Given the description of an element on the screen output the (x, y) to click on. 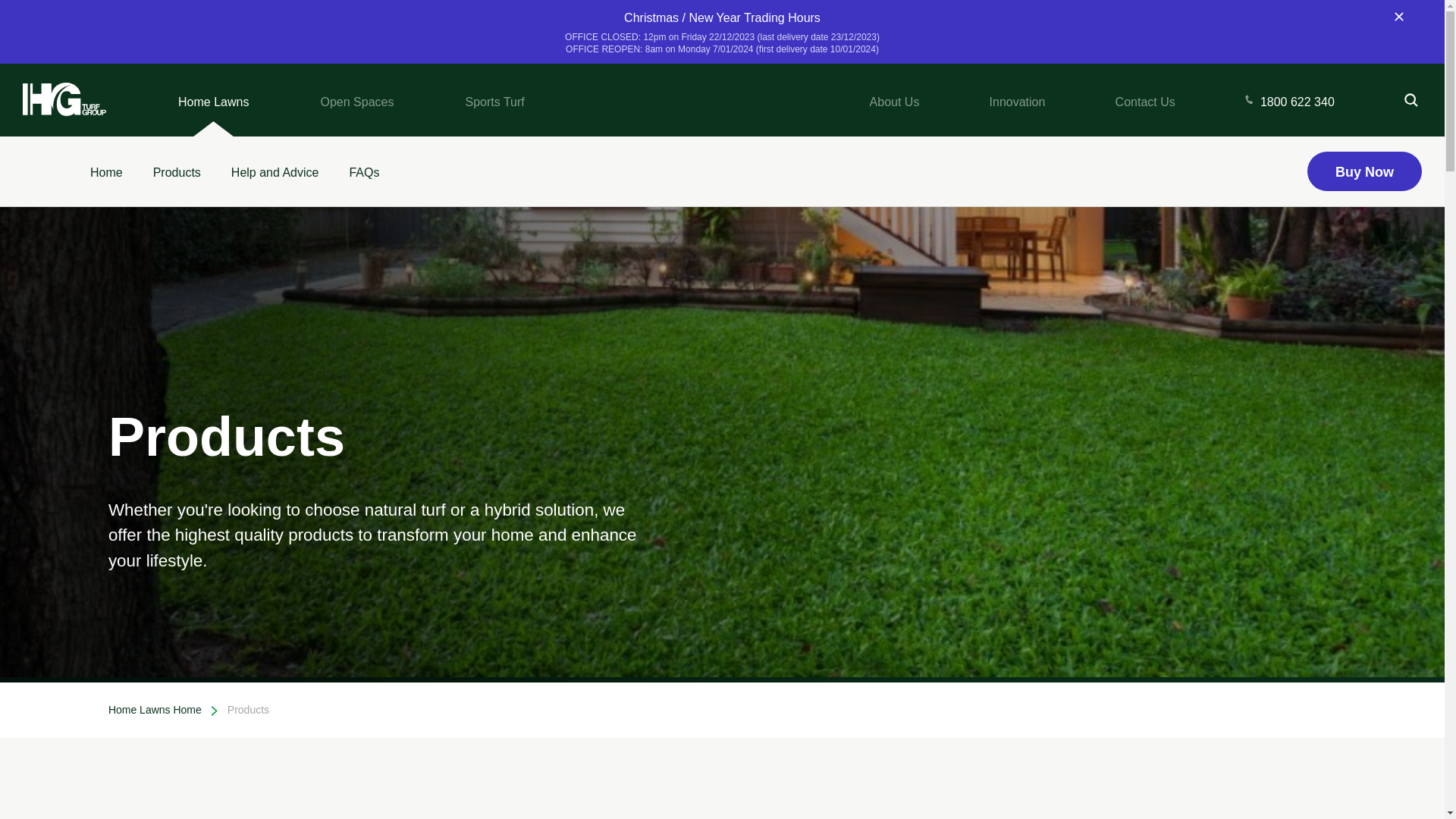
Sports Turf Element type: text (494, 99)
About Us Element type: text (894, 99)
Products Element type: text (176, 170)
Home Lawns Home Element type: text (154, 709)
Open Spaces Element type: text (356, 99)
Home Element type: text (106, 170)
Innovation Element type: text (1017, 99)
Help and Advice Element type: text (275, 170)
1800 622 340 Element type: text (1289, 99)
Products Element type: text (248, 709)
FAQs Element type: text (363, 170)
Buy Now Element type: text (1364, 171)
Contact Us Element type: text (1145, 99)
Home Lawns Element type: text (213, 99)
